Given the description of an element on the screen output the (x, y) to click on. 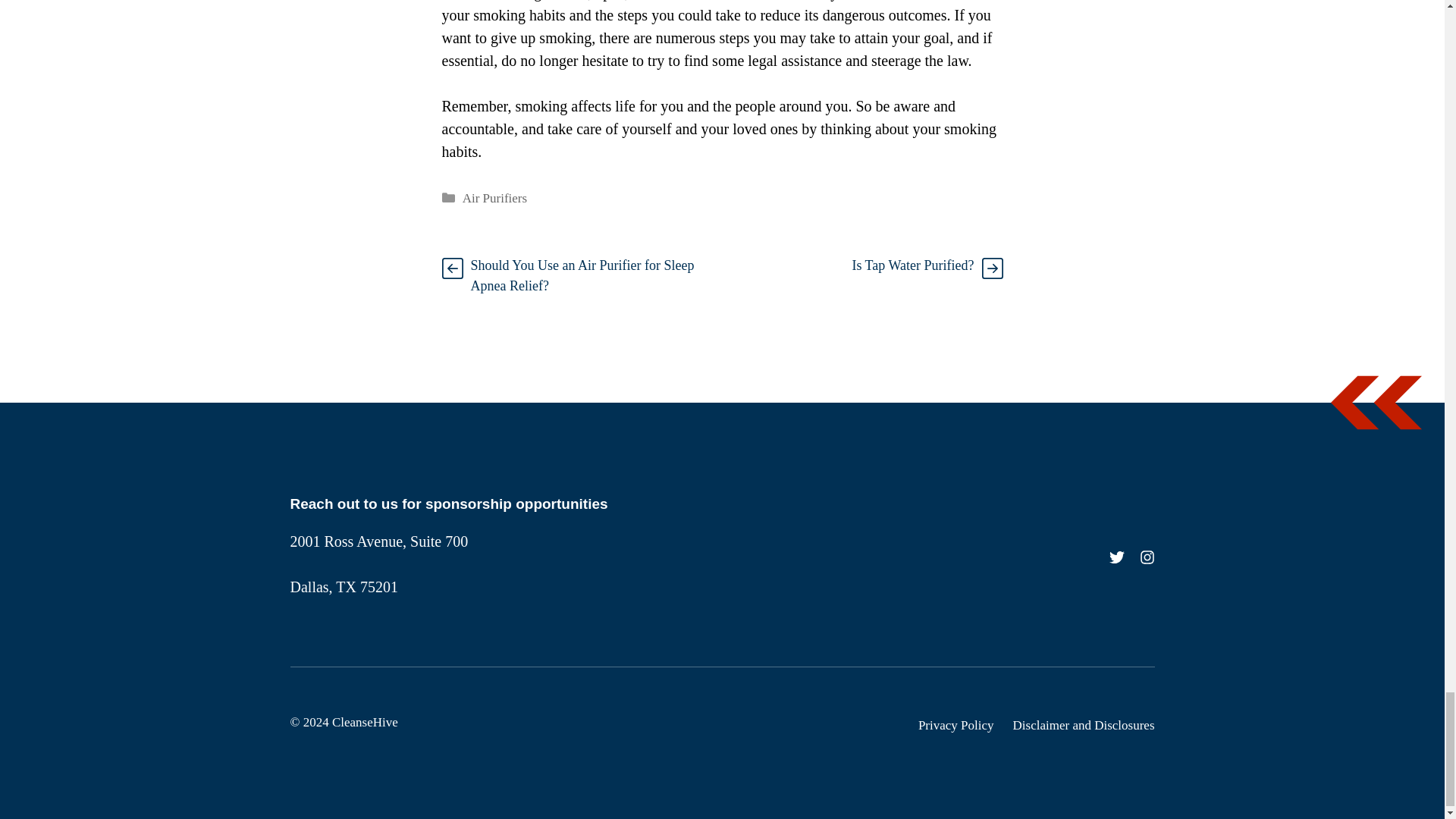
Should You Use an Air Purifier for Sleep Apnea Relief? (582, 275)
Is Tap Water Purified? (912, 264)
Disclaimer and Disclosures (1083, 725)
Air Purifiers (495, 197)
Privacy Policy (956, 725)
